Given the description of an element on the screen output the (x, y) to click on. 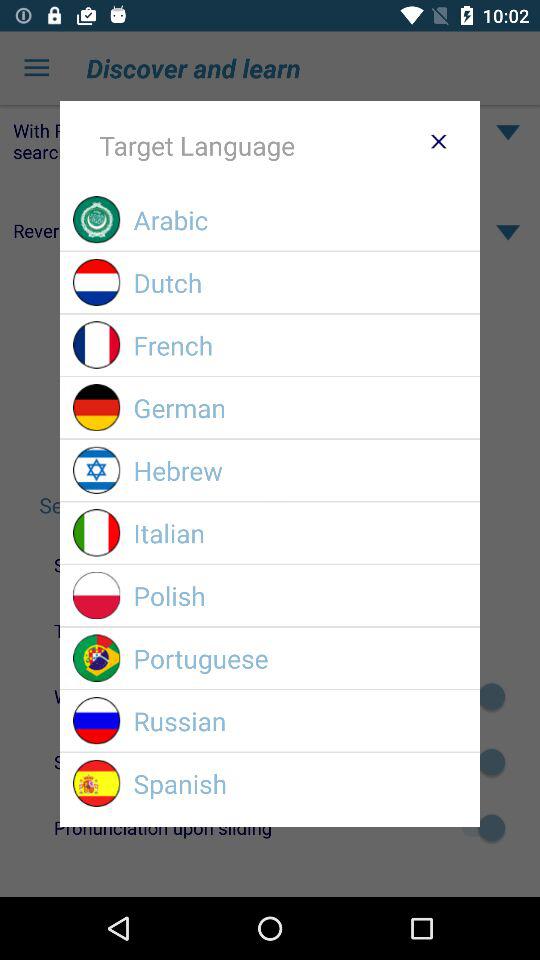
open the item above polish (300, 532)
